Given the description of an element on the screen output the (x, y) to click on. 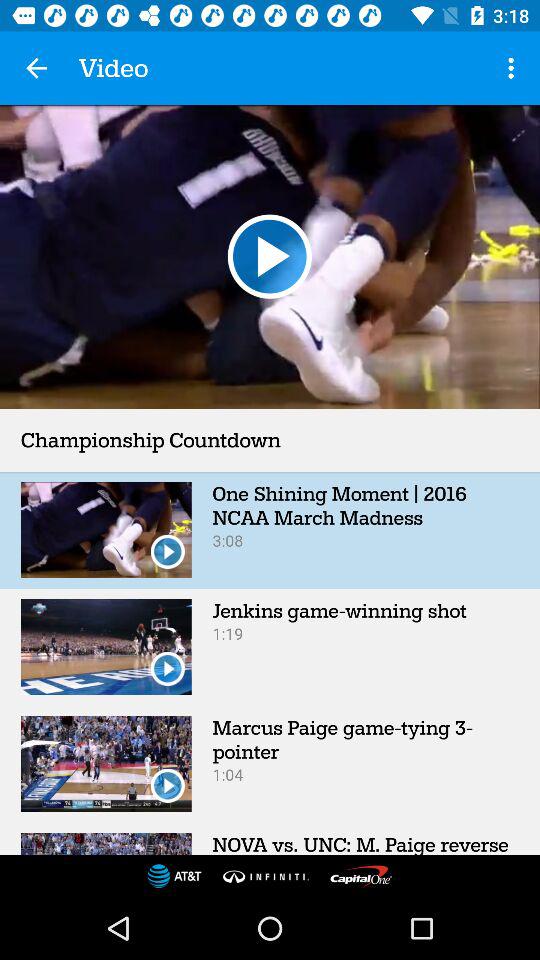
choose icon at the top right corner (513, 67)
